Given the description of an element on the screen output the (x, y) to click on. 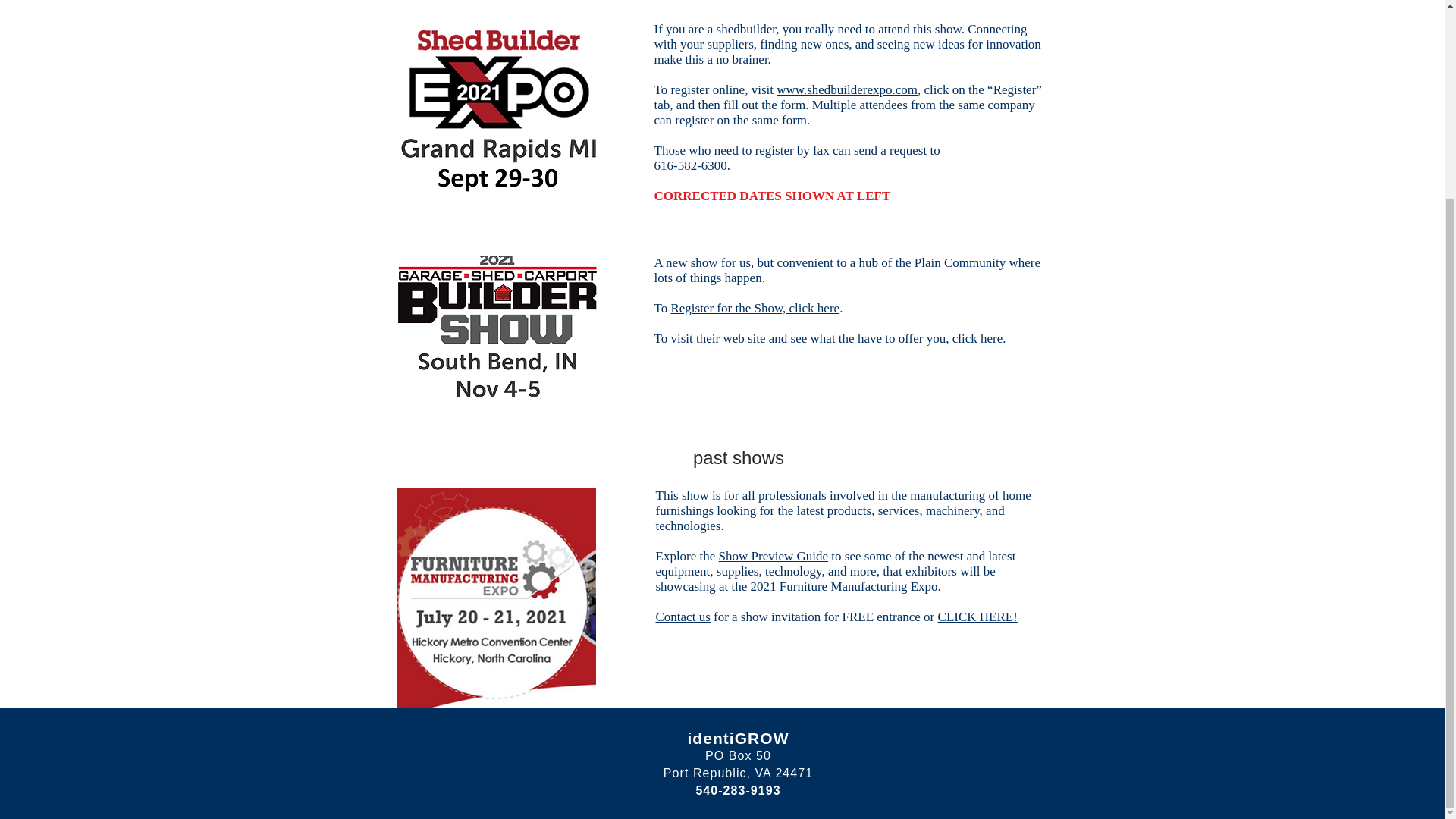
Contact us (682, 616)
web site and see what the have to offer you, click here. (864, 338)
Register for the Show, click here (754, 308)
CLICK HERE! (977, 616)
Show Preview Guide (773, 555)
www.shedbuilderexpo.com (846, 89)
